Given the description of an element on the screen output the (x, y) to click on. 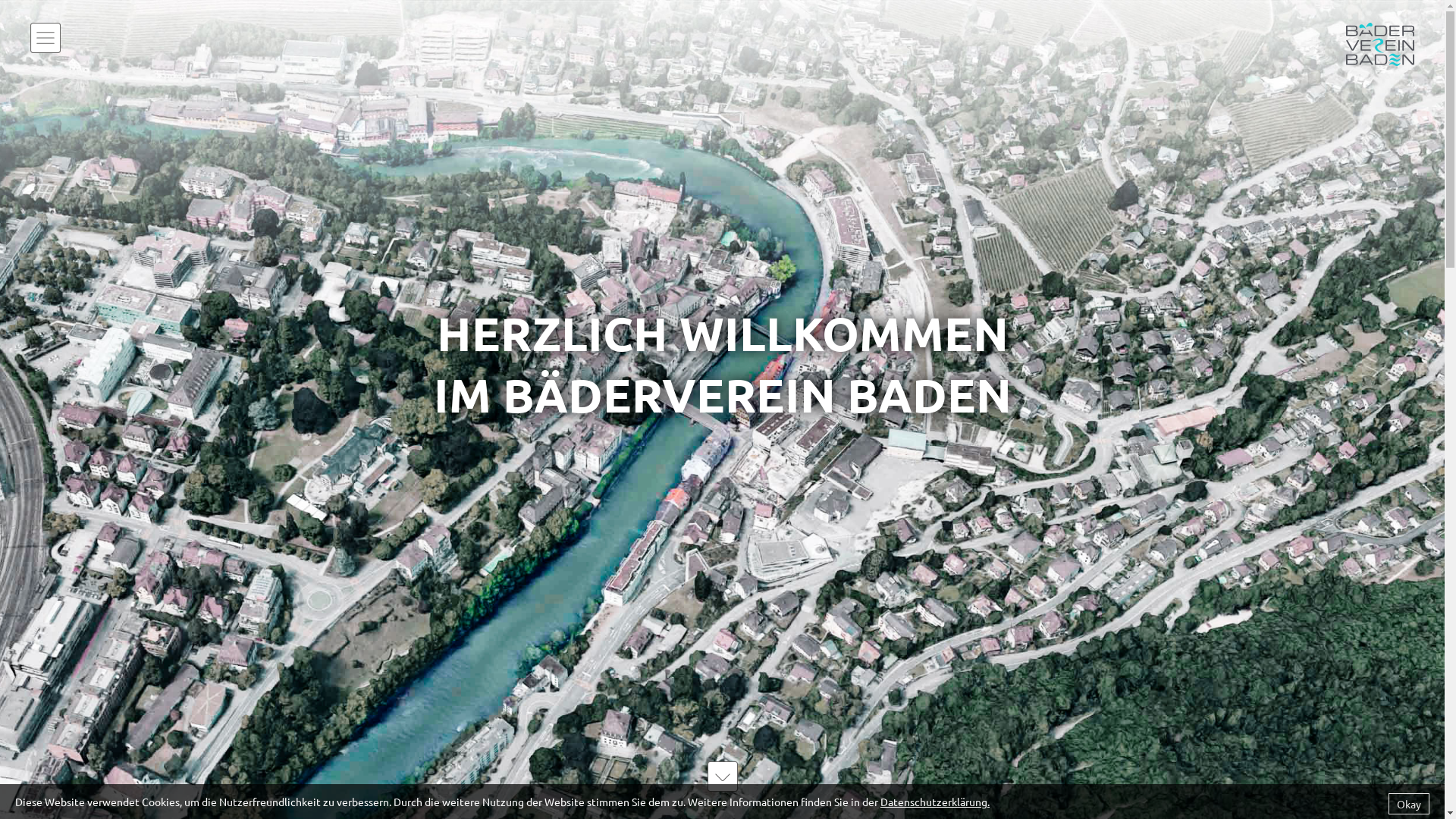
Okay Element type: text (1408, 803)
